Given the description of an element on the screen output the (x, y) to click on. 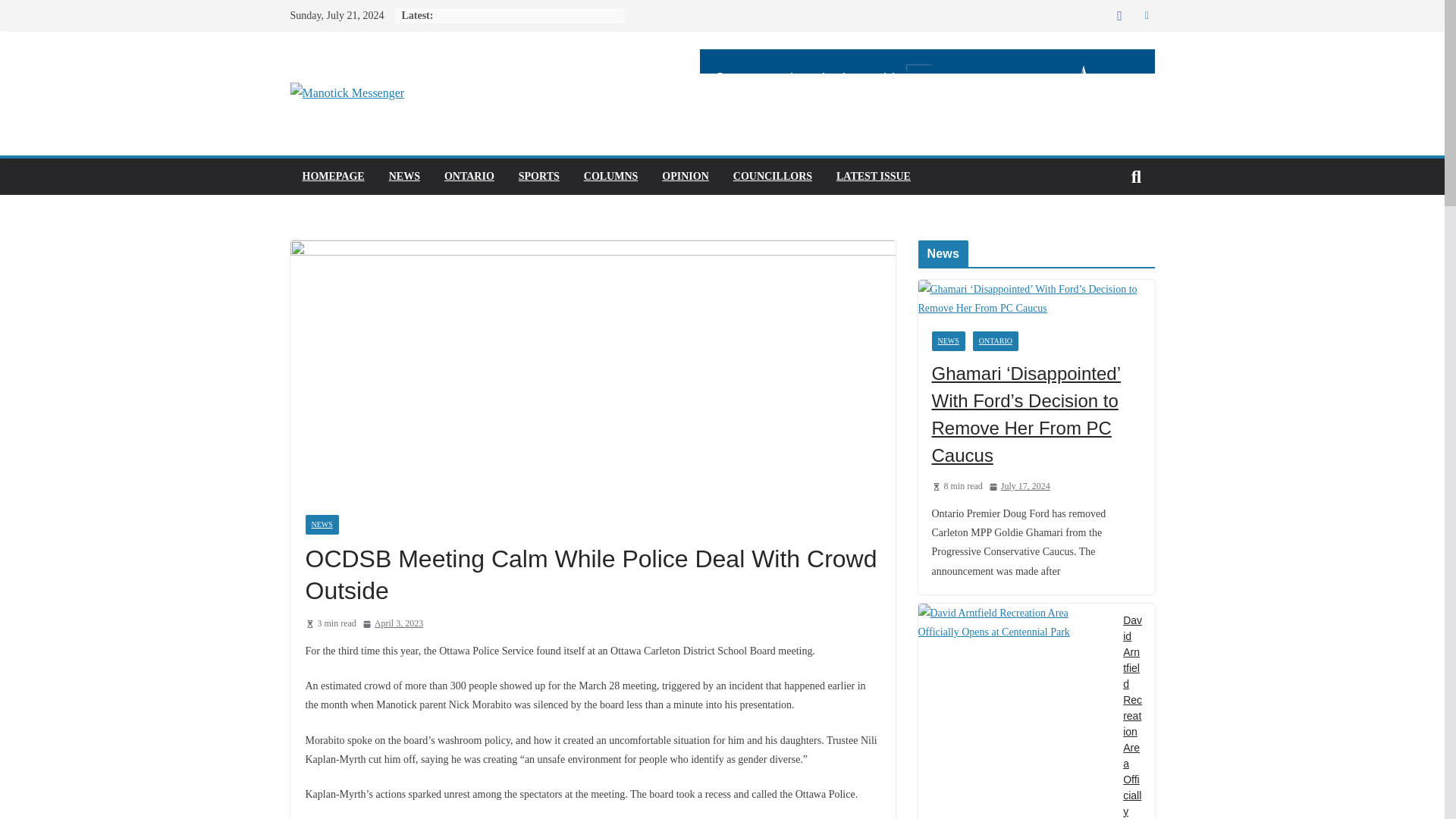
ONTARIO (469, 176)
OPINION (684, 176)
April 3, 2023 (392, 623)
ONTARIO (994, 341)
NEWS (947, 341)
COUNCILLORS (772, 176)
8:13 pm (392, 623)
SPORTS (538, 176)
NEWS (320, 524)
COLUMNS (611, 176)
July 17, 2024 (1018, 486)
NEWS (404, 176)
HOMEPAGE (332, 176)
LATEST ISSUE (873, 176)
